Given the description of an element on the screen output the (x, y) to click on. 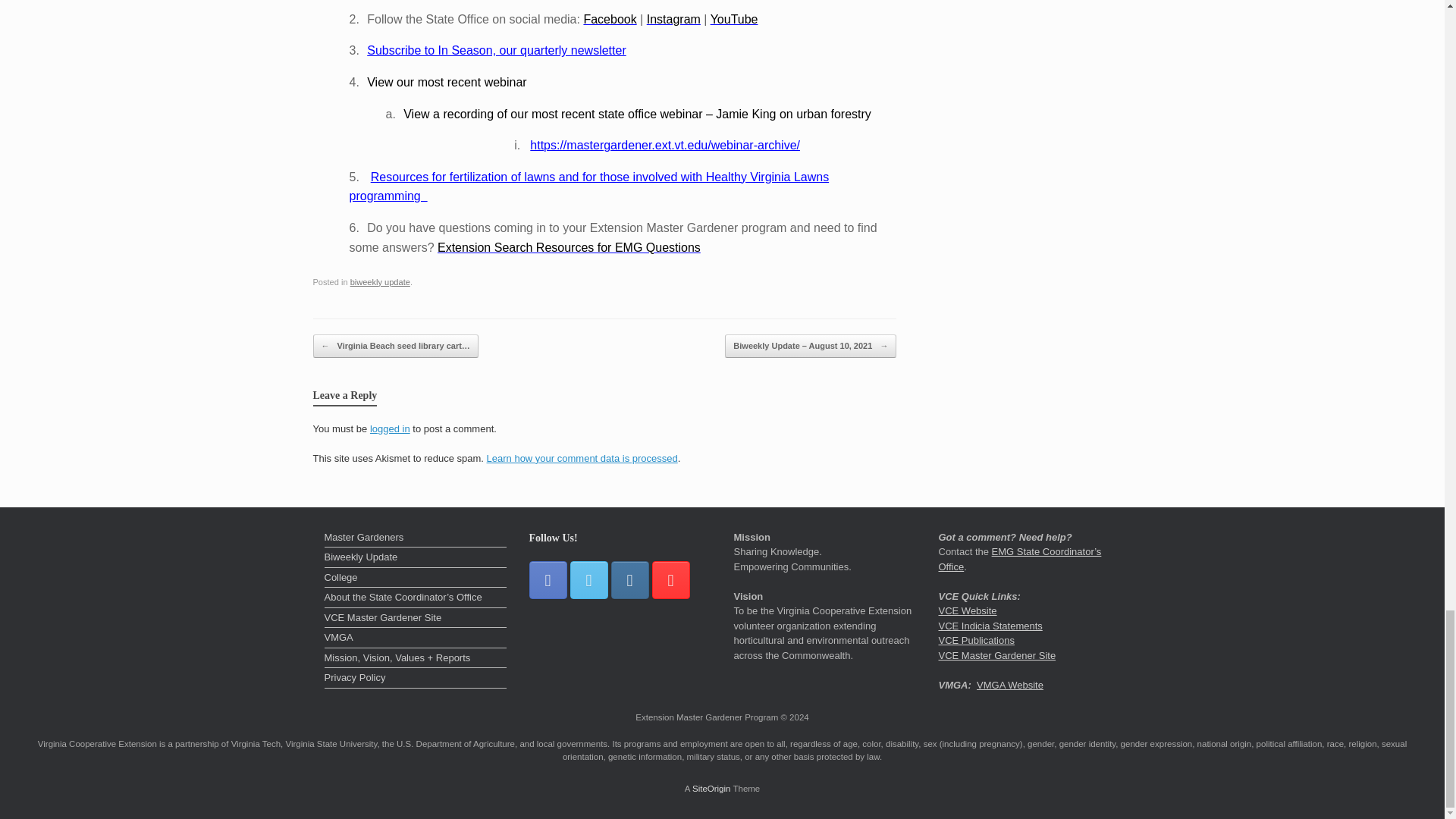
Instagram (673, 19)
Facebook (609, 19)
Subscribe to In Season, our quarterly newsletter (496, 50)
biweekly update (380, 281)
Extension Search Resources for EMG Questions (569, 246)
